Given the description of an element on the screen output the (x, y) to click on. 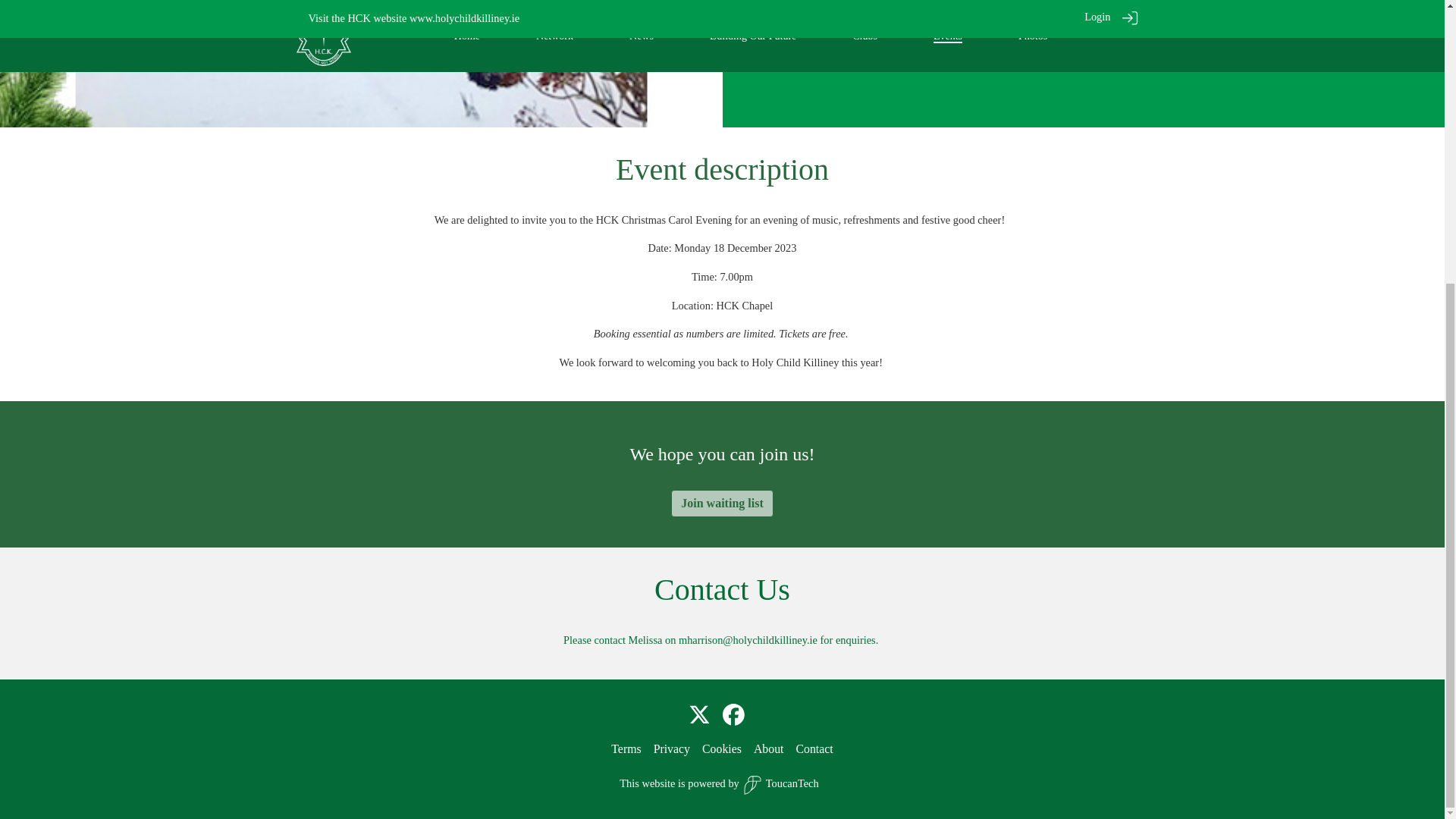
About (769, 748)
ToucanTech (778, 784)
Terms (625, 748)
Privacy (671, 748)
HCK Christmas Carols  (359, 62)
Cookies (721, 748)
Join waiting list (722, 502)
Facebook (733, 715)
Twitter (699, 715)
Contact (813, 748)
